Given the description of an element on the screen output the (x, y) to click on. 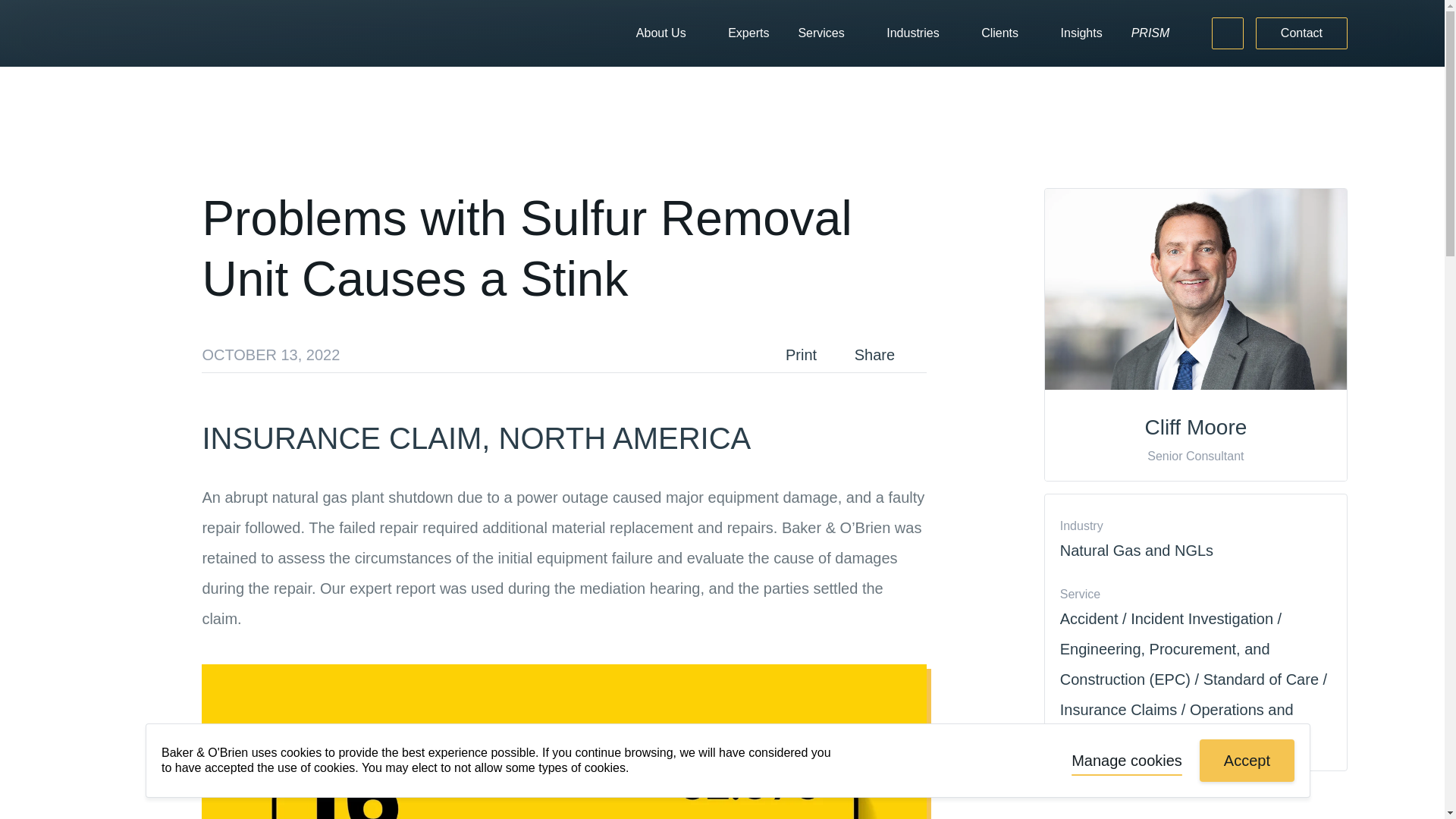
PRISM (1150, 33)
Services (820, 33)
Insights (1081, 33)
Industries (912, 33)
About Us (660, 33)
Experts (748, 33)
Clients (999, 33)
